Given the description of an element on the screen output the (x, y) to click on. 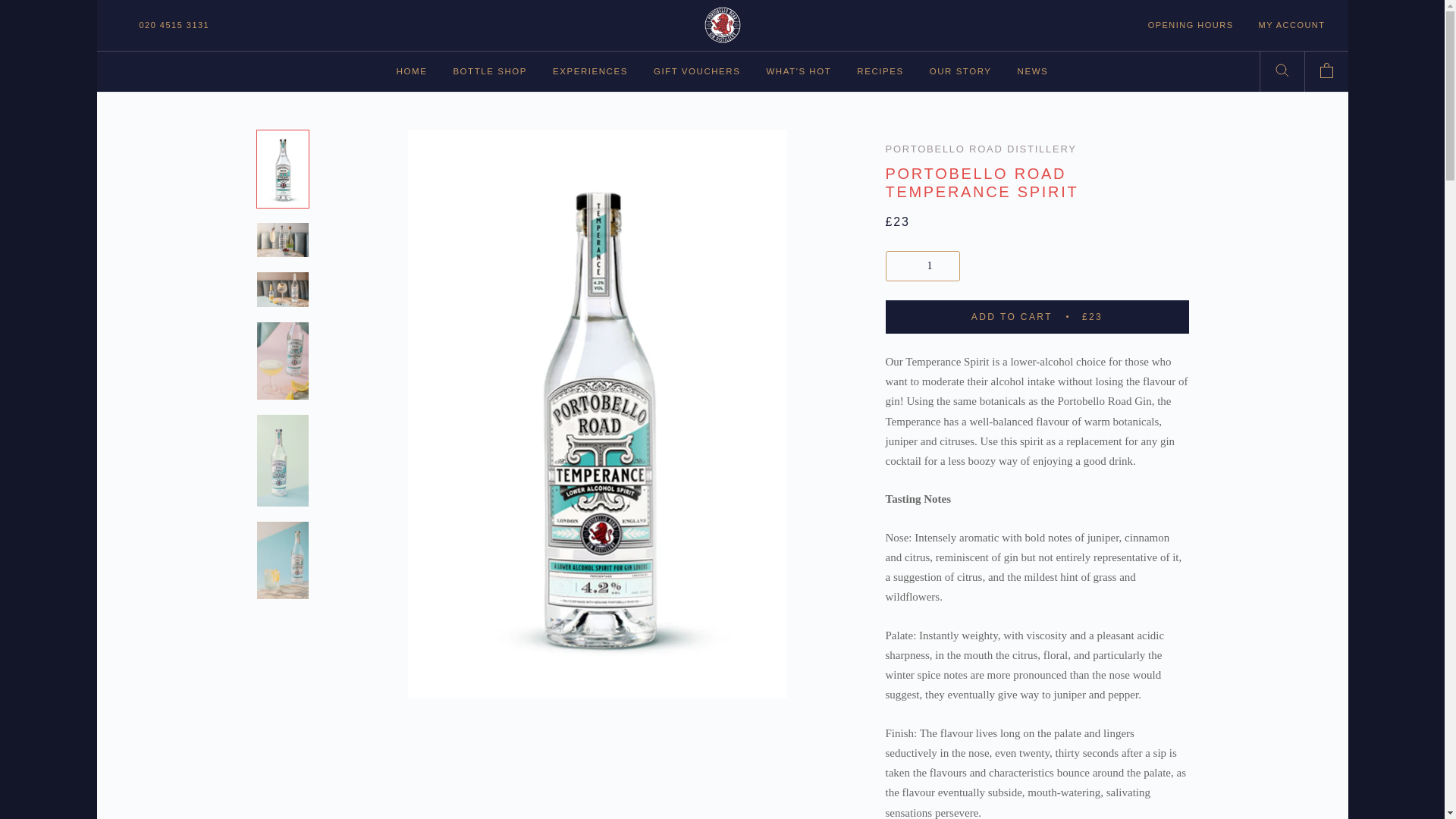
020 4515 3131 (174, 24)
EXPERIENCES (489, 71)
1 (412, 71)
